Given the description of an element on the screen output the (x, y) to click on. 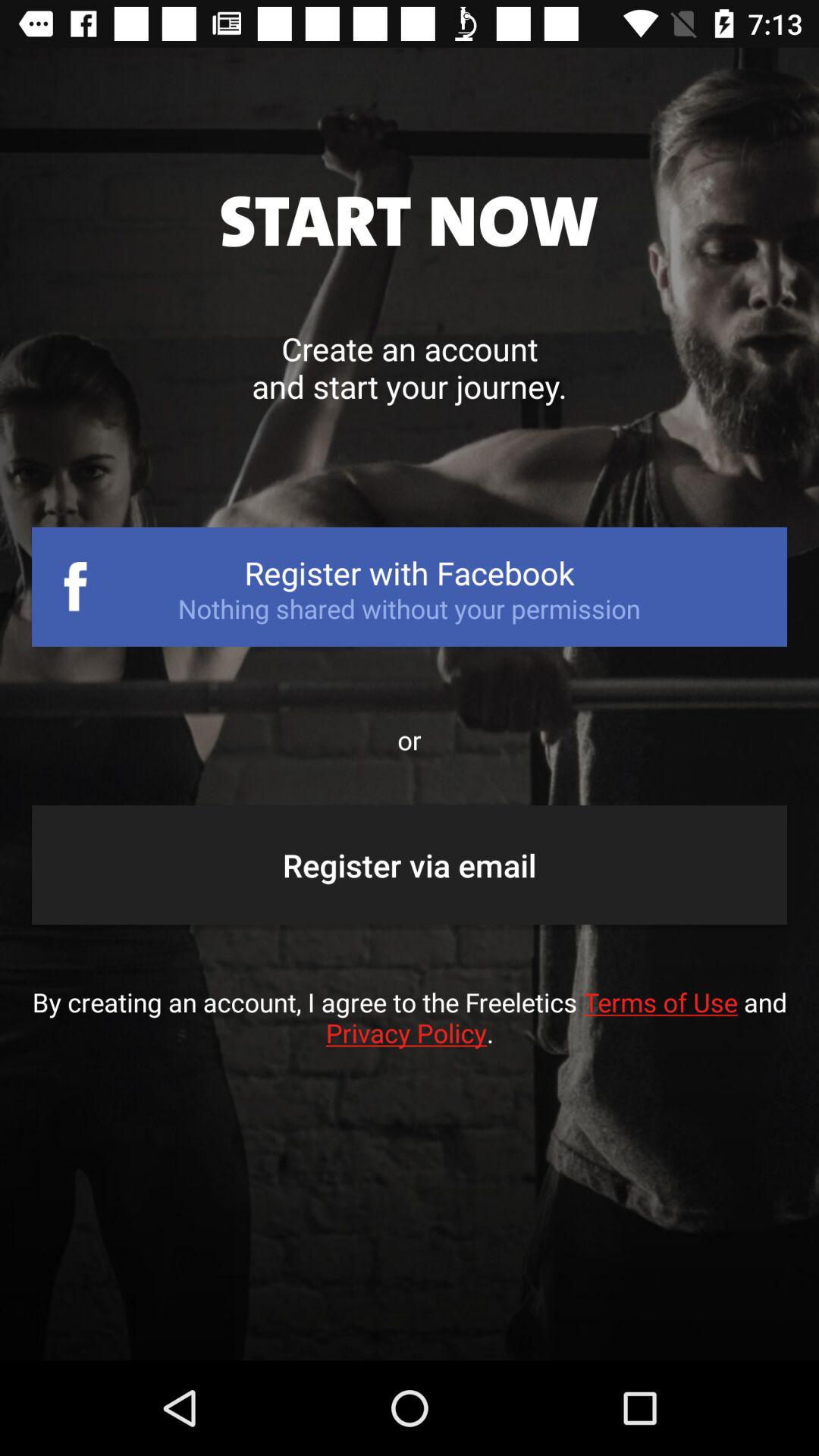
launch the by creating an item (409, 1033)
